Given the description of an element on the screen output the (x, y) to click on. 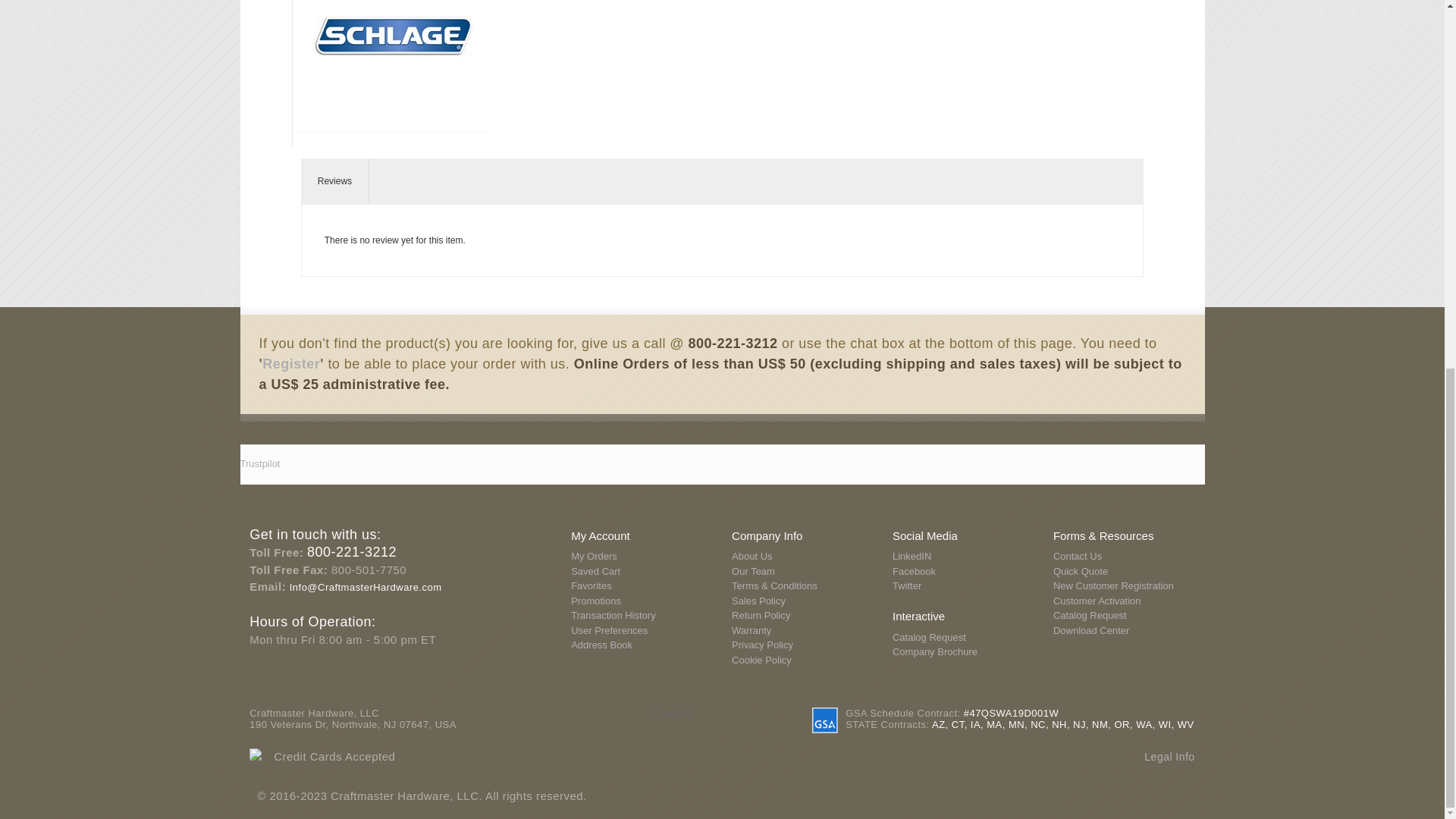
Schlage Lock (393, 58)
Click to see more products from Schlage Lock (394, 58)
